Given the description of an element on the screen output the (x, y) to click on. 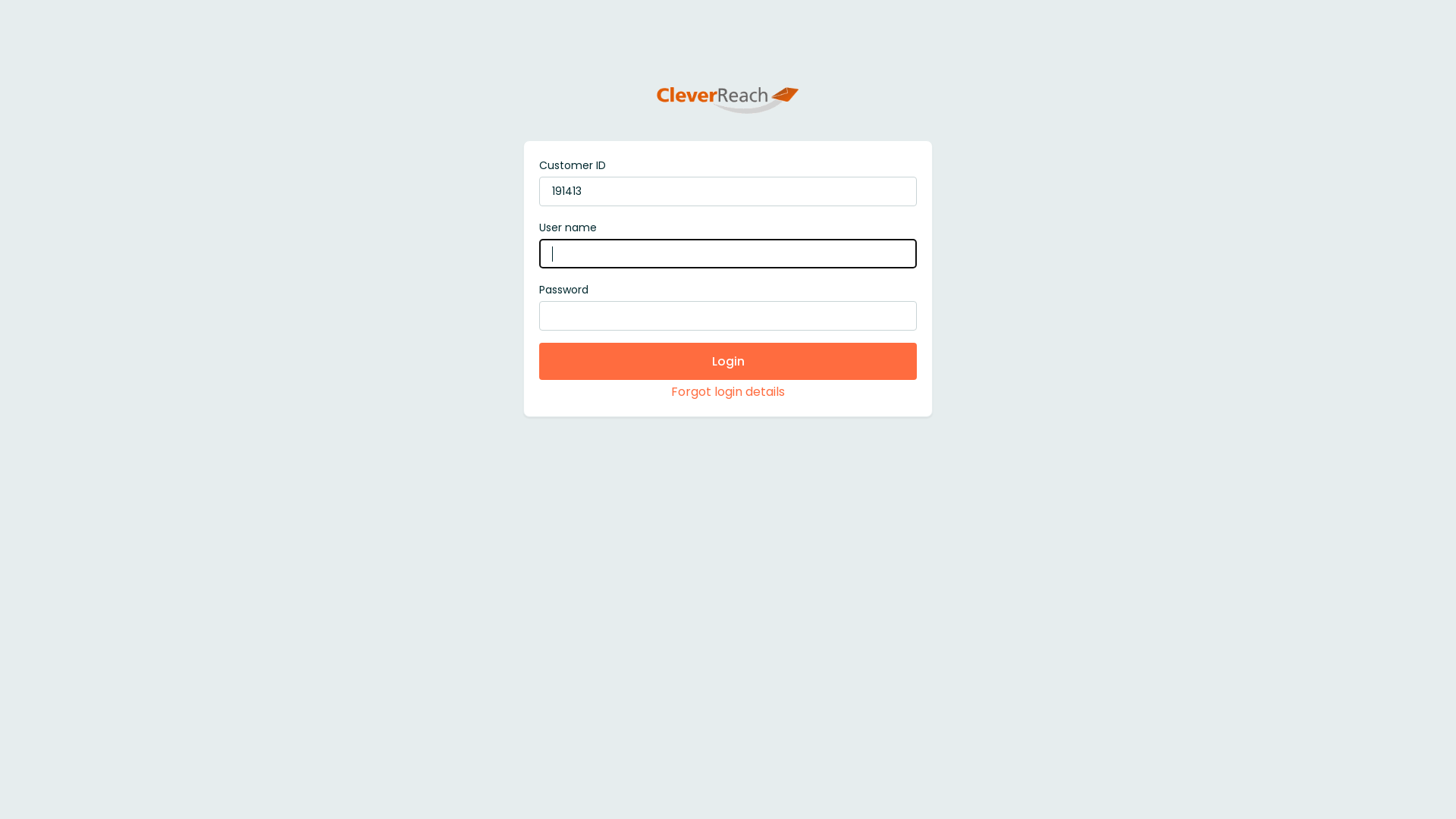
Forgot login details Element type: text (727, 391)
Login Element type: text (727, 360)
